Given the description of an element on the screen output the (x, y) to click on. 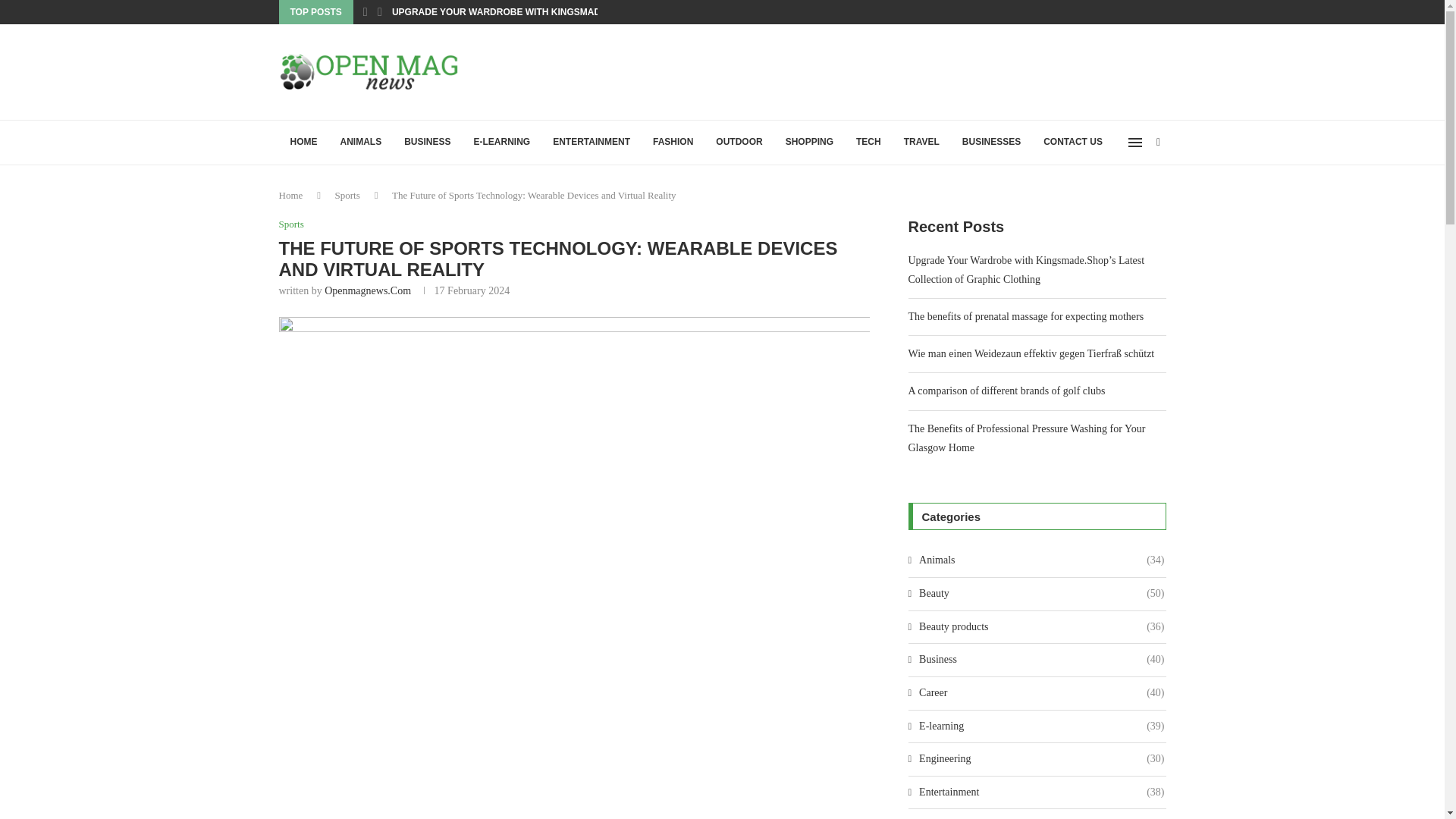
TRAVEL (921, 142)
Home (290, 194)
Openmagnews.Com (367, 290)
HOME (304, 142)
SHOPPING (809, 142)
ANIMALS (361, 142)
CONTACT US (1072, 142)
TECH (868, 142)
E-LEARNING (502, 142)
BUSINESSES (991, 142)
